Given the description of an element on the screen output the (x, y) to click on. 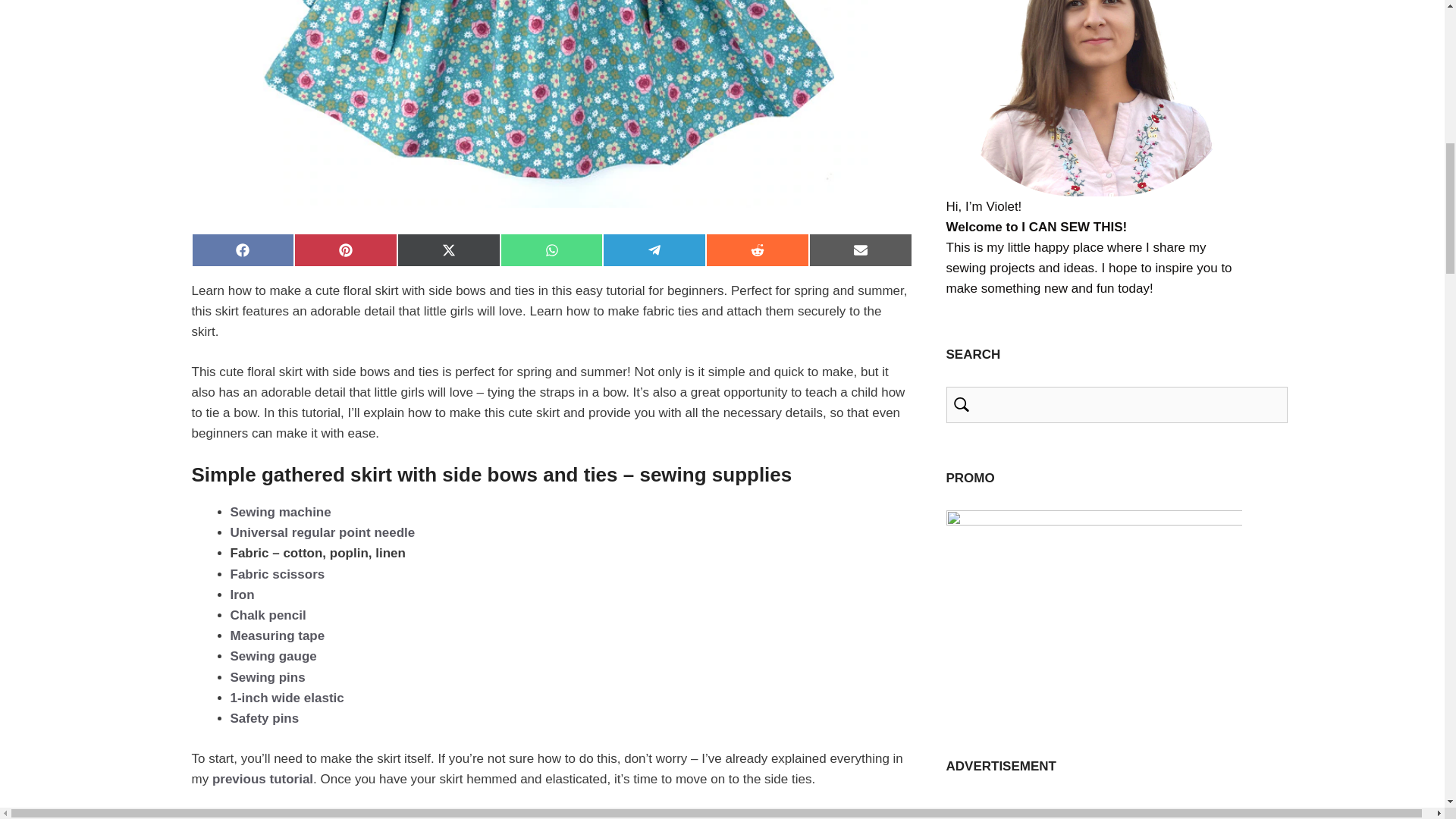
crafts on display banner (1093, 610)
Search (1116, 404)
Scroll back to top (1406, 708)
